Given the description of an element on the screen output the (x, y) to click on. 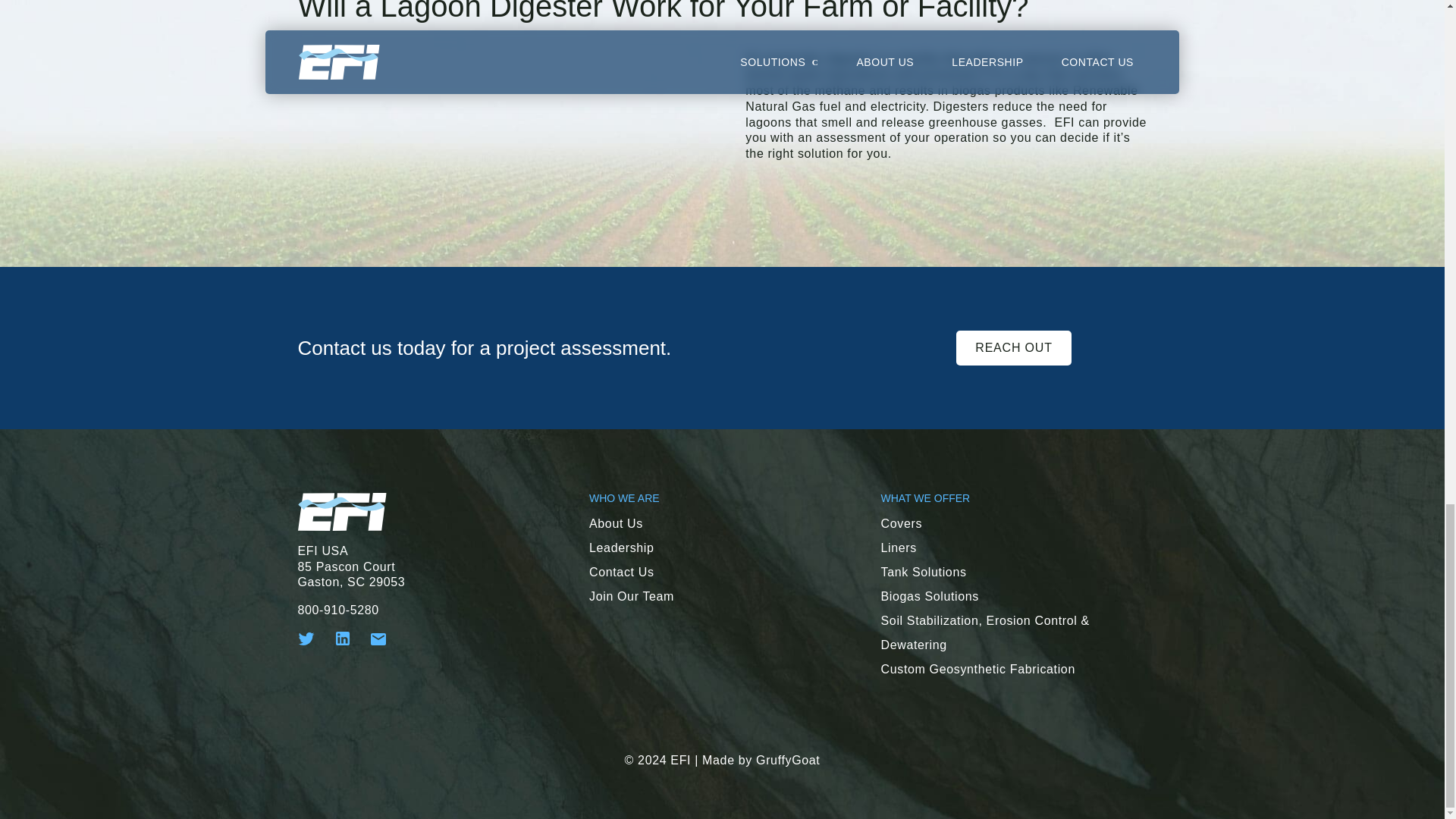
Liners (898, 547)
About Us (616, 522)
Leadership (621, 547)
Contact Us (621, 571)
REACH OUT (1013, 347)
Tank Solutions (923, 571)
Biogas Solutions (929, 595)
GruffyGoat (787, 759)
Covers (901, 522)
logo (341, 511)
